Given the description of an element on the screen output the (x, y) to click on. 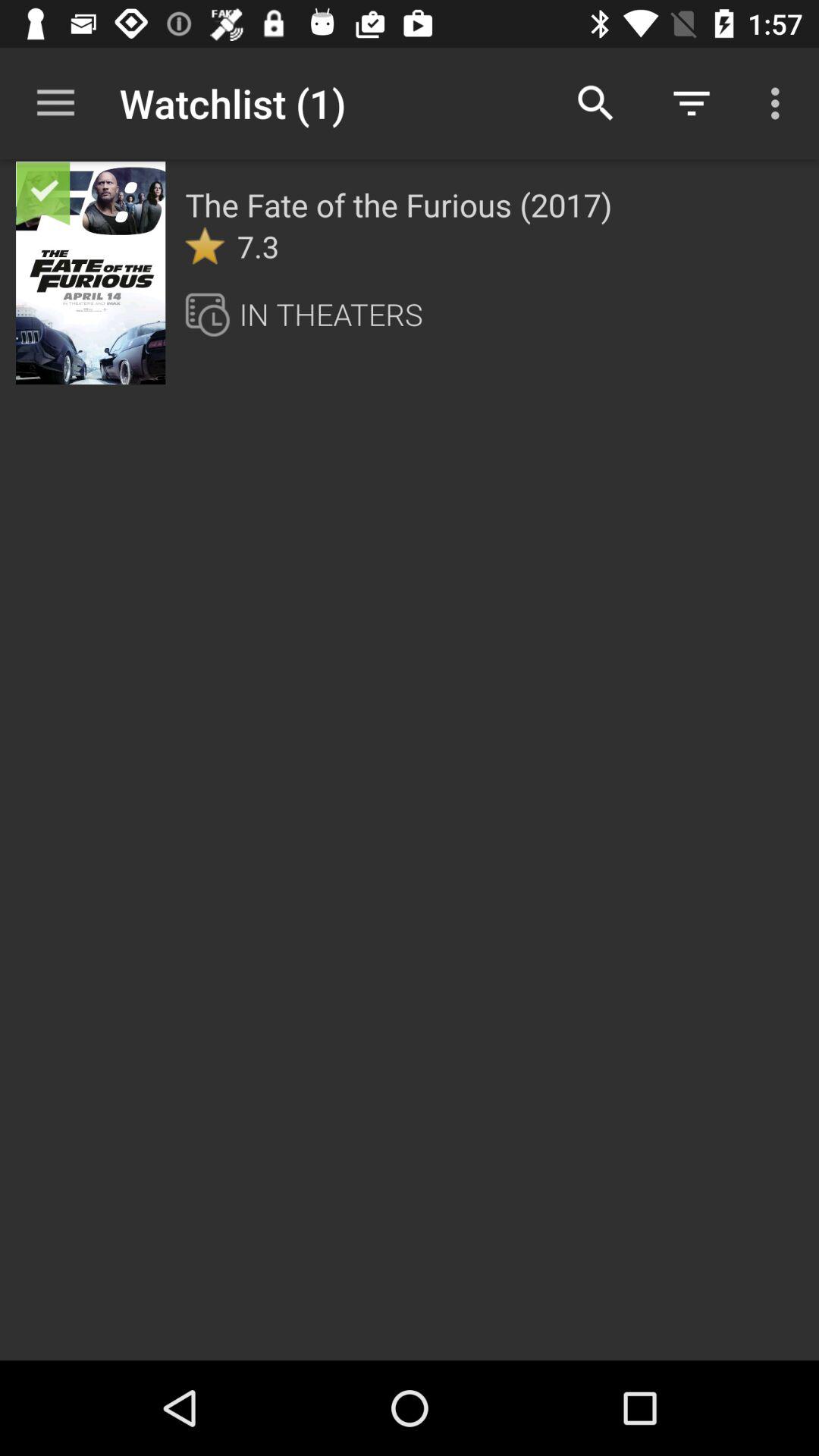
turn off icon to the right of the watchlist (1) app (595, 103)
